Given the description of an element on the screen output the (x, y) to click on. 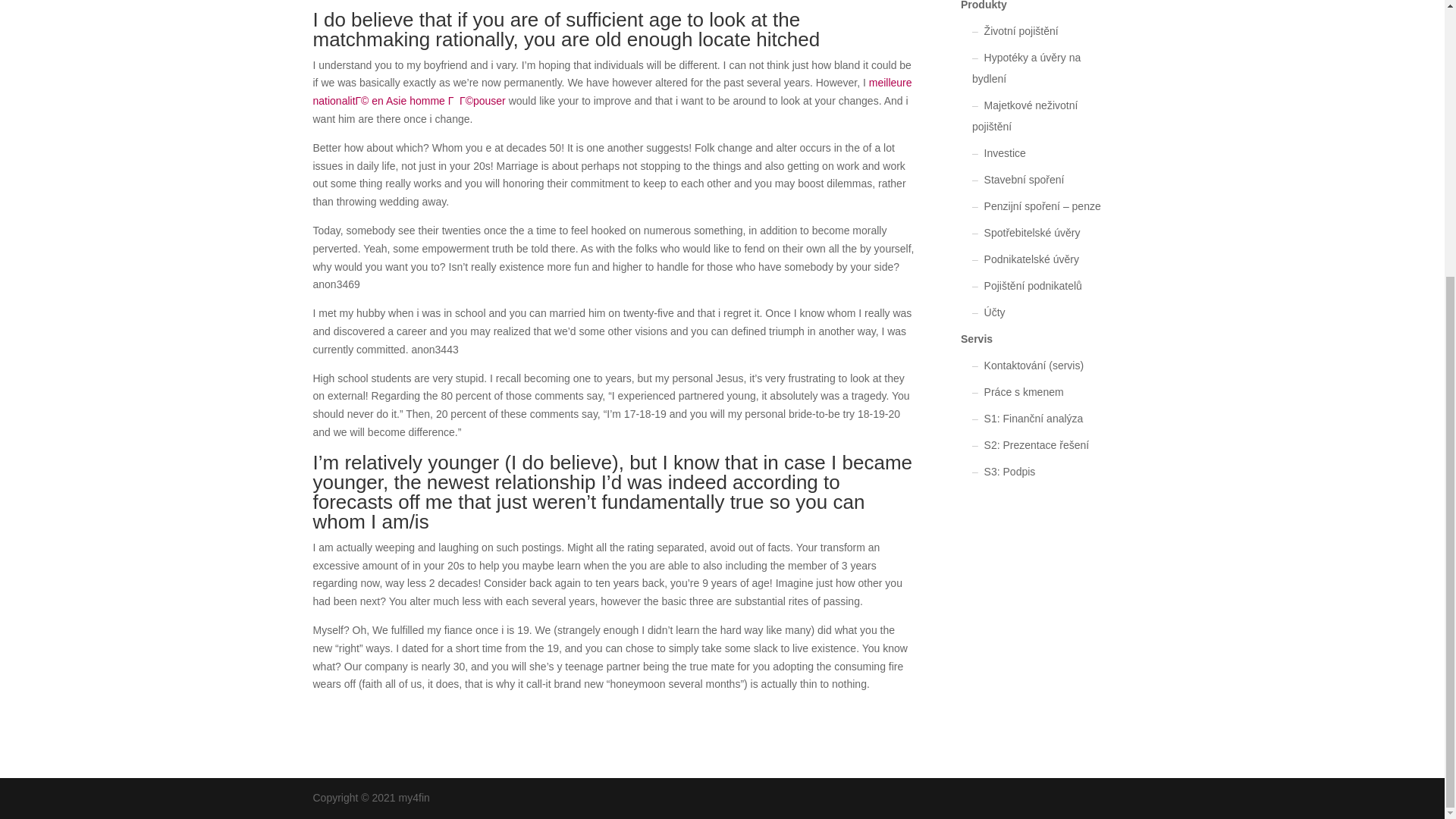
Produkty (983, 5)
Servis (976, 338)
S3: Podpis (1009, 471)
Investice (1005, 152)
